Given the description of an element on the screen output the (x, y) to click on. 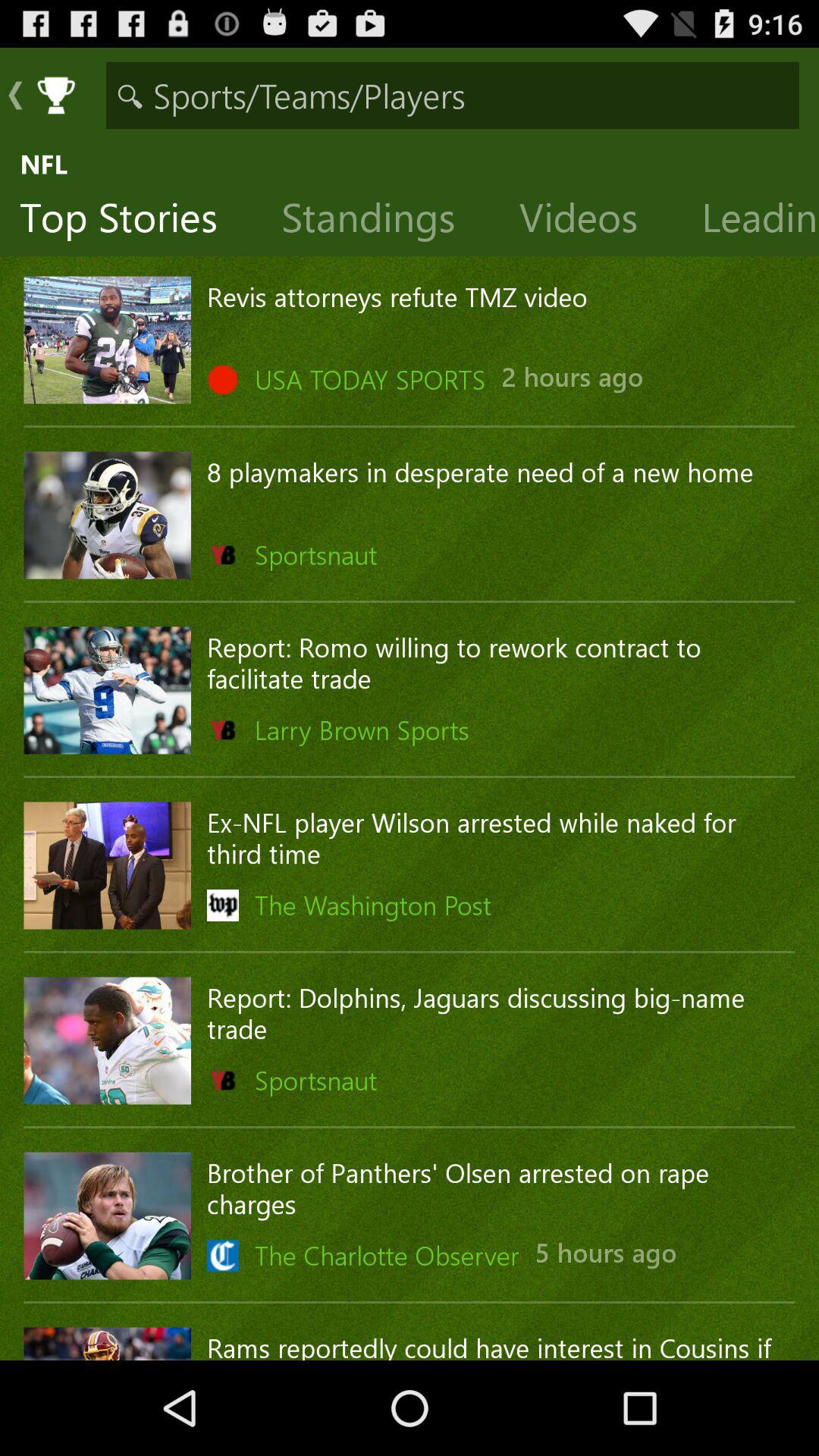
flip to videos item (590, 220)
